Given the description of an element on the screen output the (x, y) to click on. 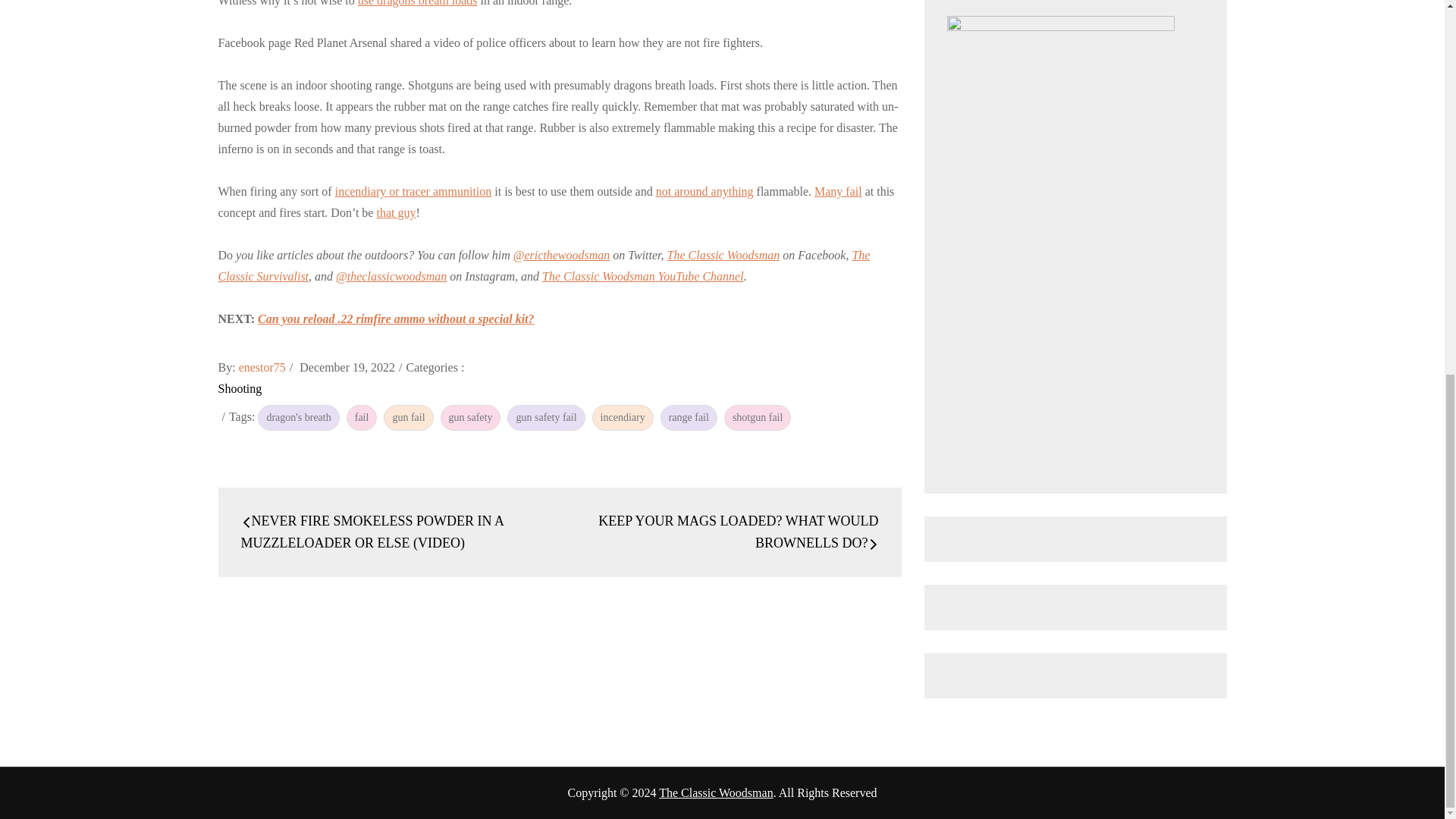
The Classic Woodsman (716, 792)
December 19, 2022 (346, 367)
The Classic Survivalist (544, 265)
The Classic Woodsman YouTube Channel (642, 276)
shotgun fail (757, 417)
incendiary (622, 417)
fail (361, 417)
Many fail (837, 191)
enestor75 (261, 367)
incendiary or tracer ammunition (413, 191)
